Given the description of an element on the screen output the (x, y) to click on. 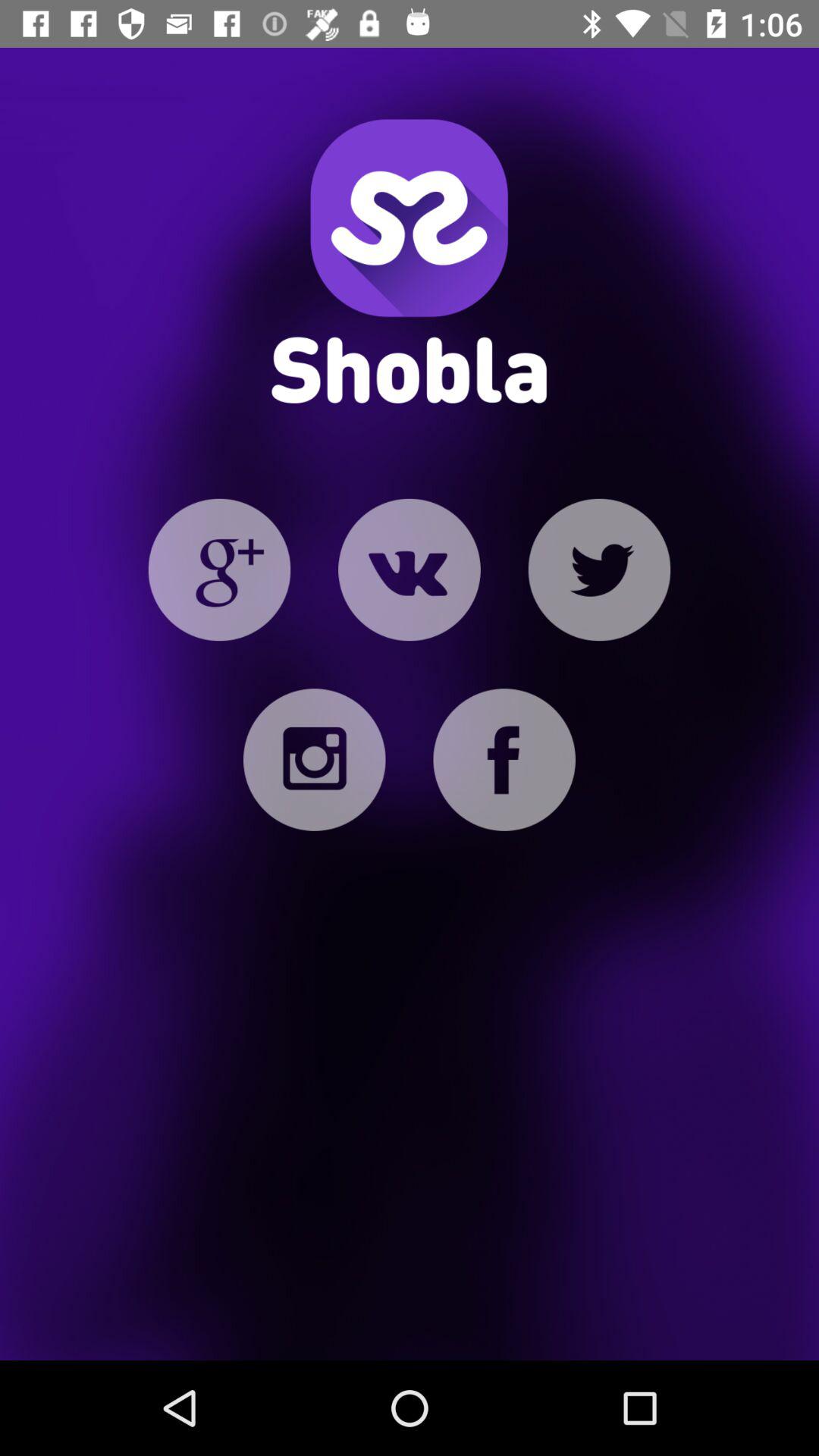
twitter button (599, 569)
